Given the description of an element on the screen output the (x, y) to click on. 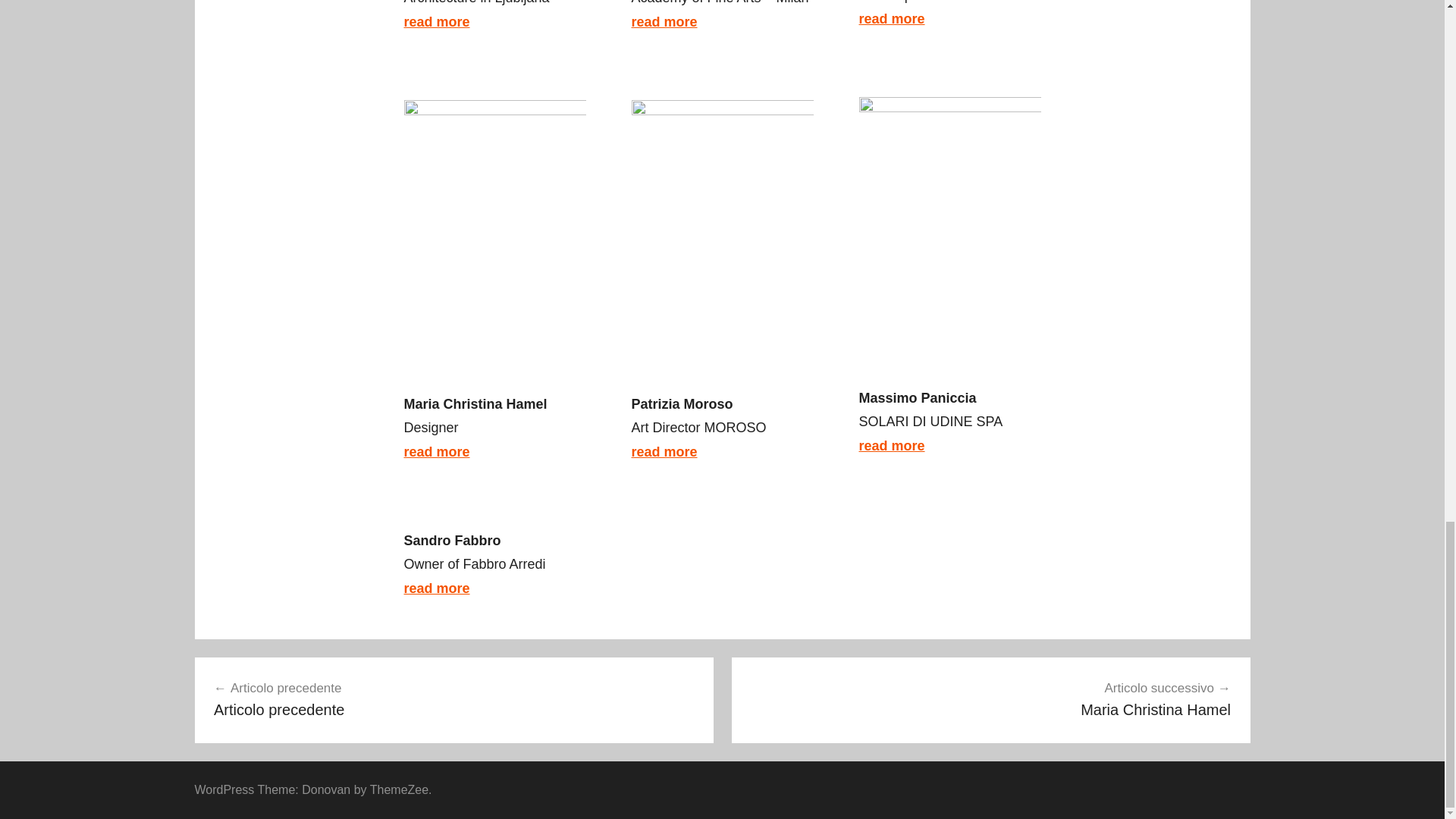
read more (663, 21)
read more (435, 588)
read more (435, 21)
read more (454, 699)
read more (435, 451)
read more (663, 451)
read more (990, 699)
